Given the description of an element on the screen output the (x, y) to click on. 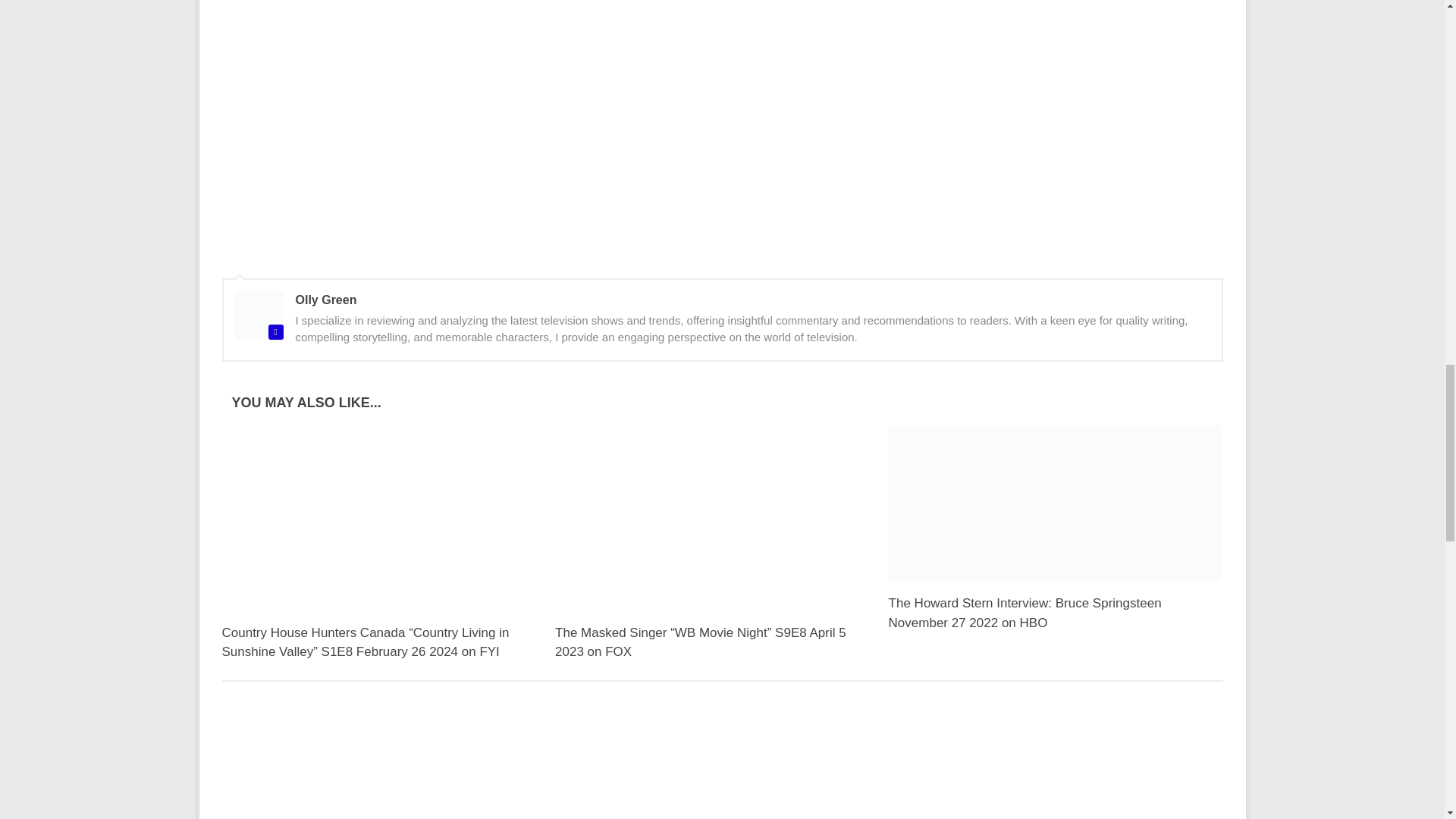
Advertisement (721, 765)
